Given the description of an element on the screen output the (x, y) to click on. 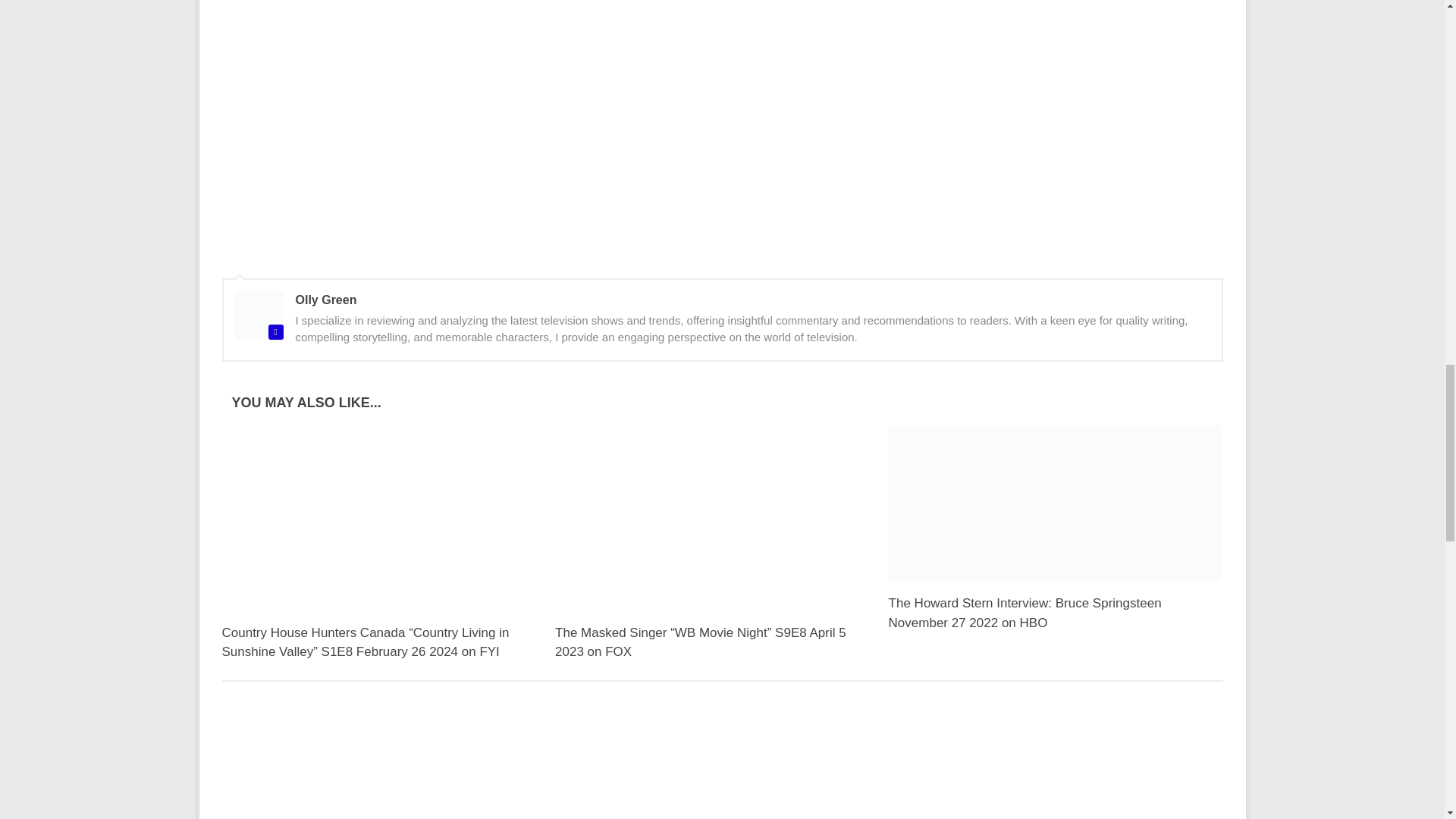
Advertisement (721, 765)
